Given the description of an element on the screen output the (x, y) to click on. 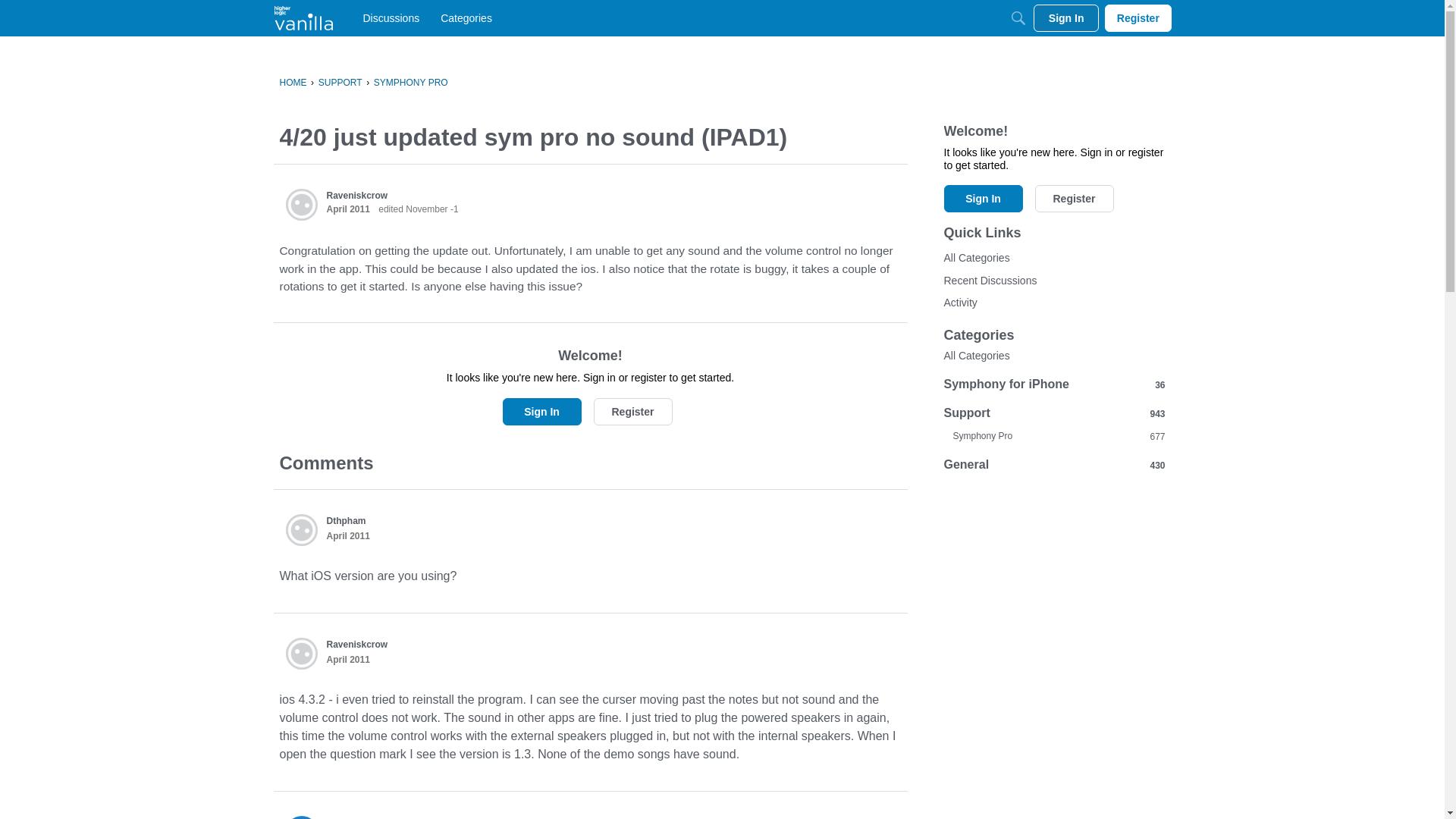
Dthpham (345, 520)
SYMPHONY PRO (411, 81)
SUPPORT (340, 81)
Support (343, 818)
Raveniskcrow (356, 644)
Raveniskcrow (301, 653)
HOME (292, 81)
Raveniskcrow (301, 204)
Search (1018, 17)
Discussions (390, 17)
